Given the description of an element on the screen output the (x, y) to click on. 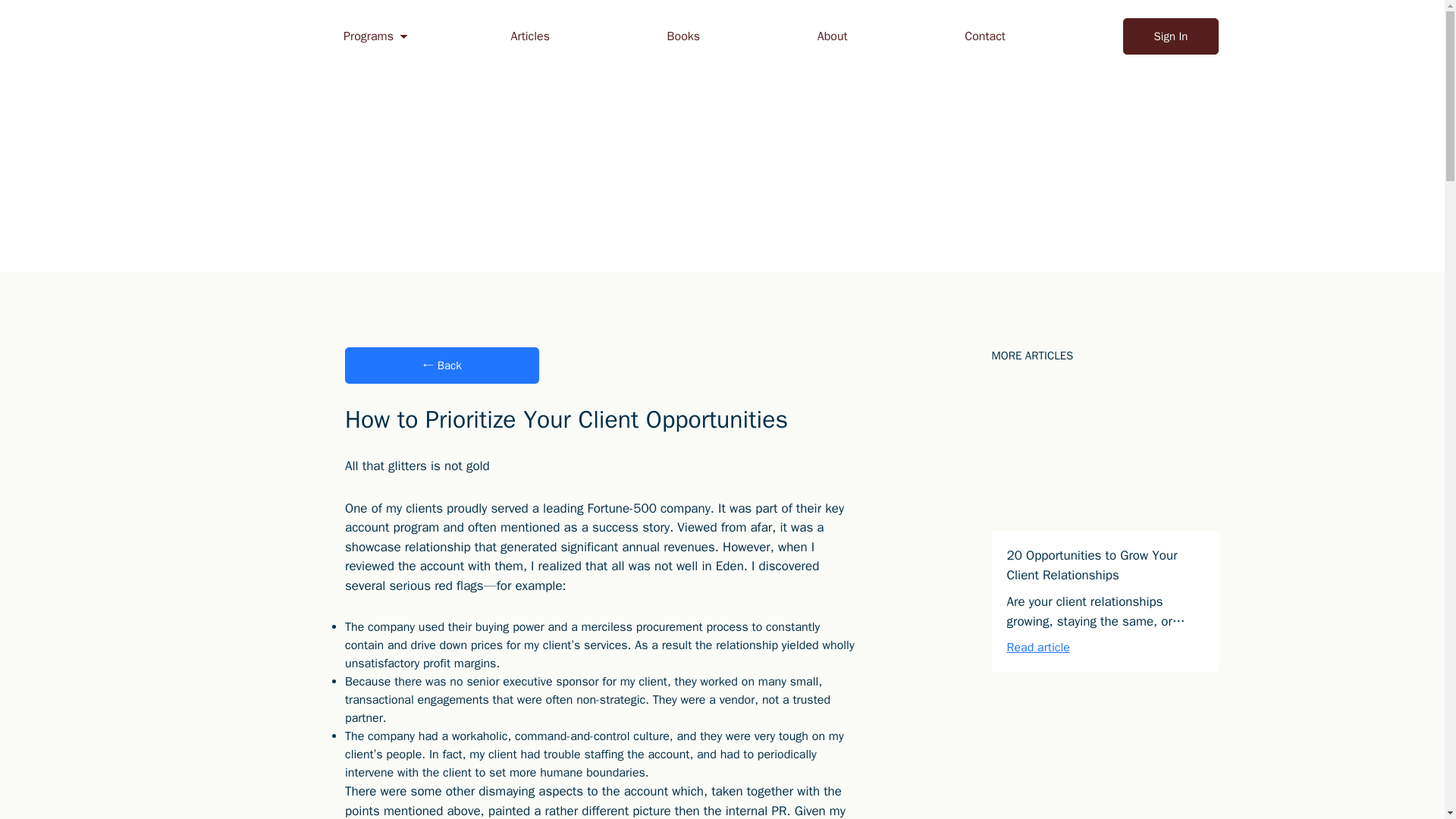
About (831, 36)
Read article (1038, 647)
Books (683, 36)
Programs (368, 36)
Articles (530, 36)
Contact (984, 36)
Sign In (1171, 36)
